Given the description of an element on the screen output the (x, y) to click on. 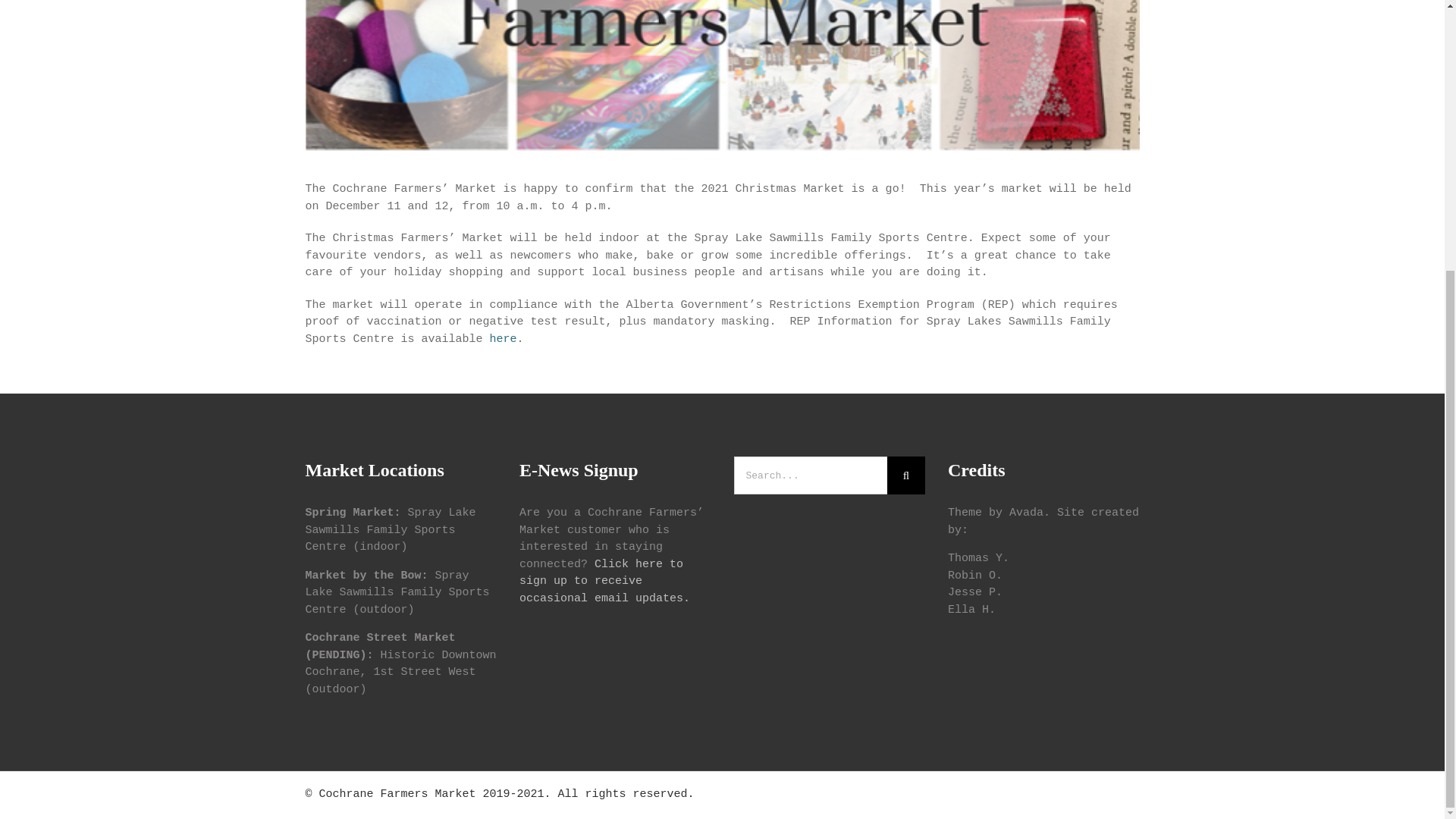
here (502, 338)
Click here to sign up to receive occasional email updates. (604, 581)
